Given the description of an element on the screen output the (x, y) to click on. 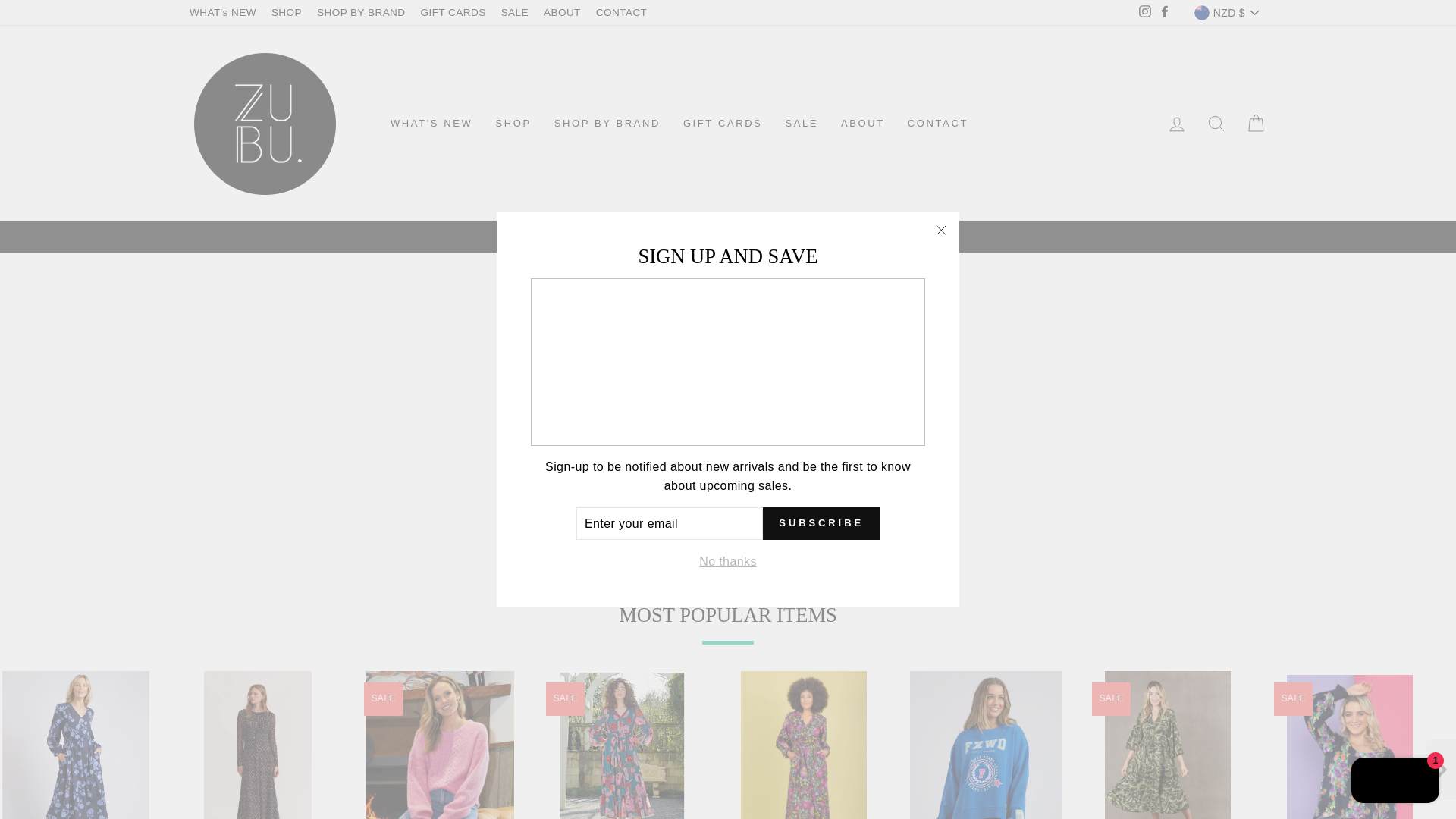
Charlo Fletcher Top (1349, 746)
Staple the Label ZADIE MESH MAXI DRESS (257, 744)
Coop by Trelise Cooper Afternoon V Dress (621, 744)
Charlo Lucinda Cotton Dress (803, 744)
Elm Kacey Floral Print Dress (75, 744)
